Given the description of an element on the screen output the (x, y) to click on. 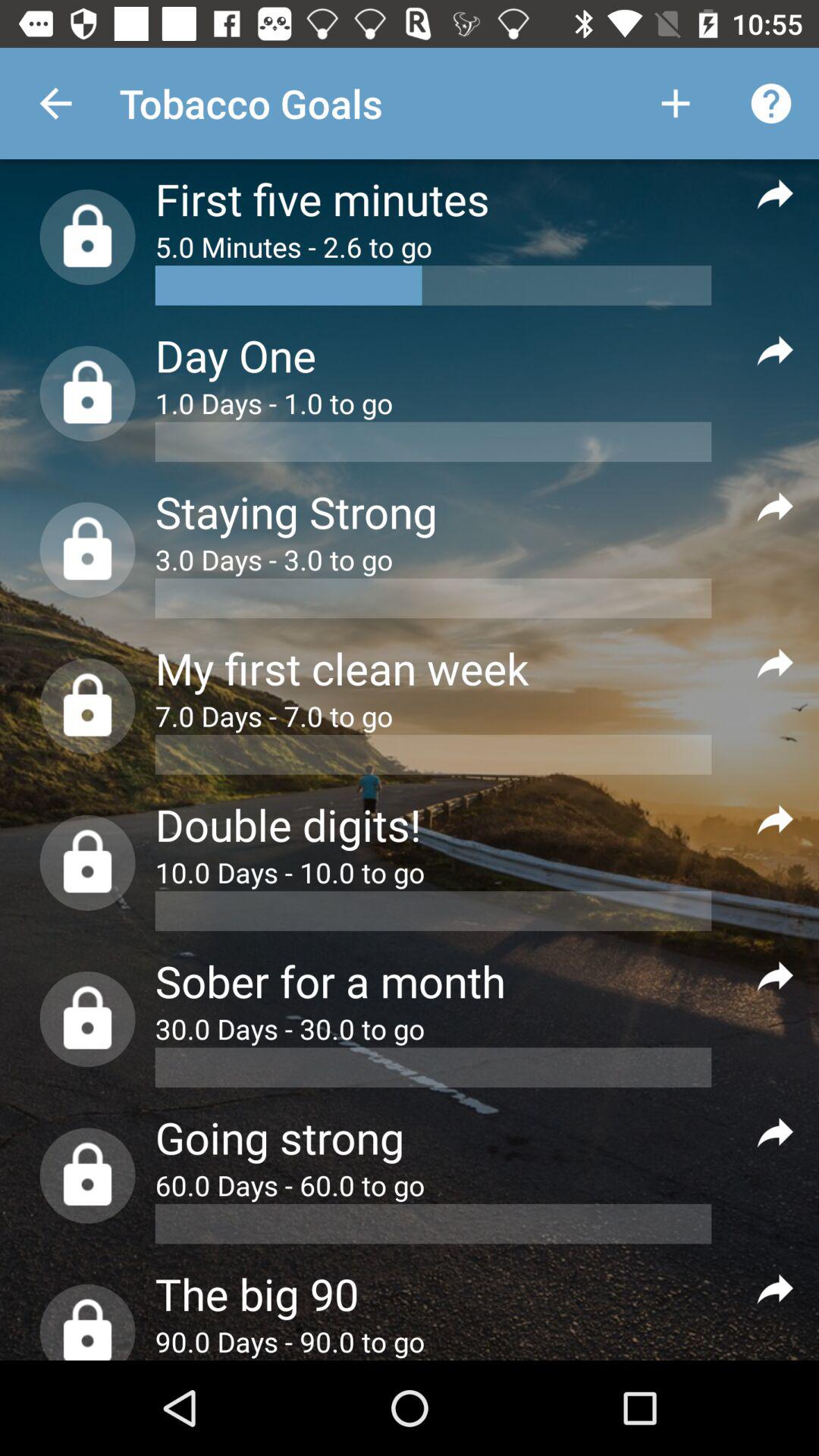
share goal (775, 193)
